Given the description of an element on the screen output the (x, y) to click on. 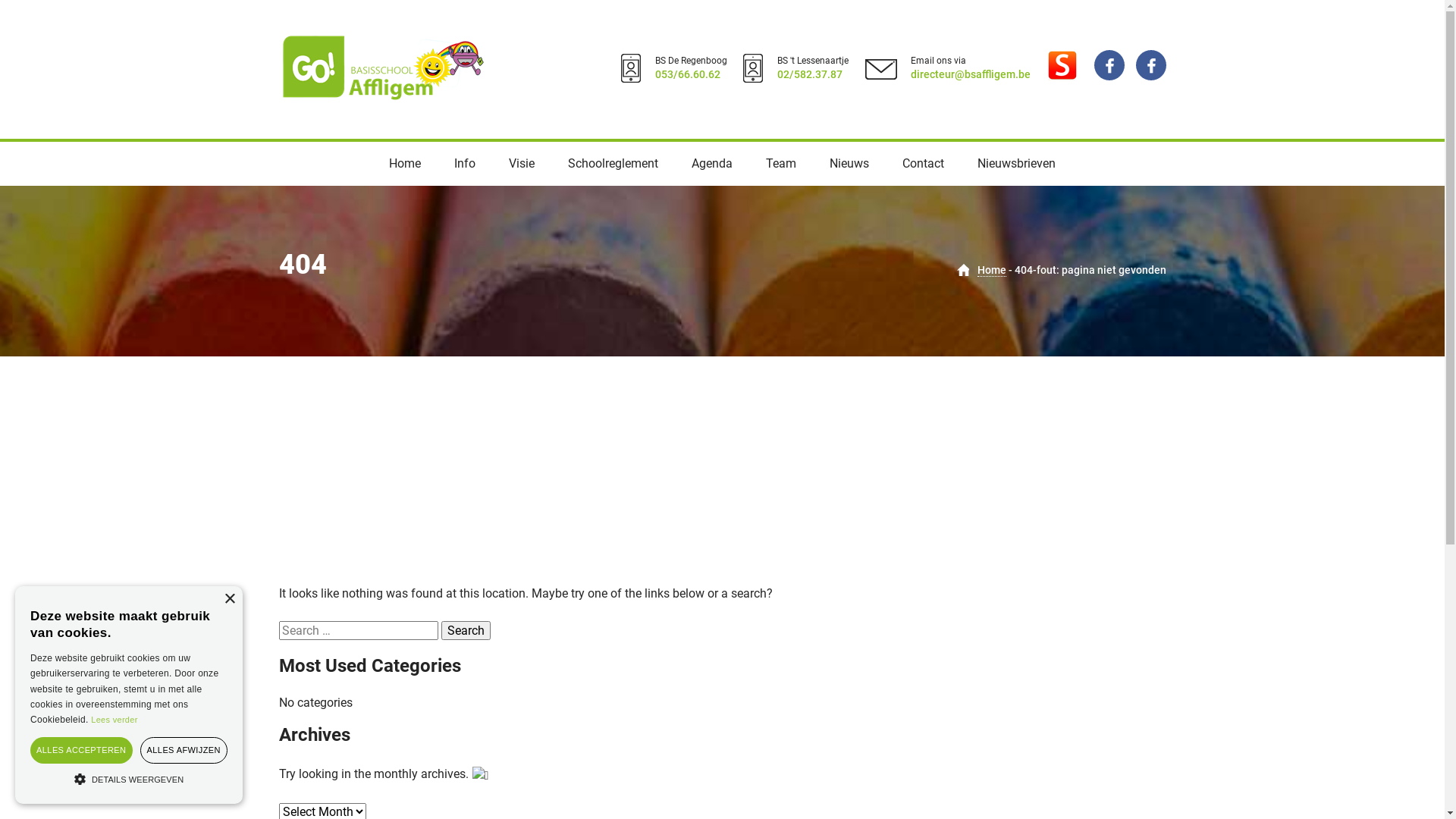
directeur@bsaffligem.be Element type: text (969, 74)
Info Element type: text (464, 163)
053/66.60.62 Element type: text (687, 74)
Search Element type: text (465, 630)
Contact Element type: text (923, 163)
Schoolreglement Element type: text (612, 163)
Lees verder Element type: text (114, 719)
Visie Element type: text (521, 163)
Agenda Element type: text (711, 163)
Nieuws Element type: text (849, 163)
Home Element type: text (990, 269)
02/582.37.87 Element type: text (808, 74)
Team Element type: text (780, 163)
Home Element type: text (404, 163)
Nieuwsbrieven Element type: text (1016, 163)
